Given the description of an element on the screen output the (x, y) to click on. 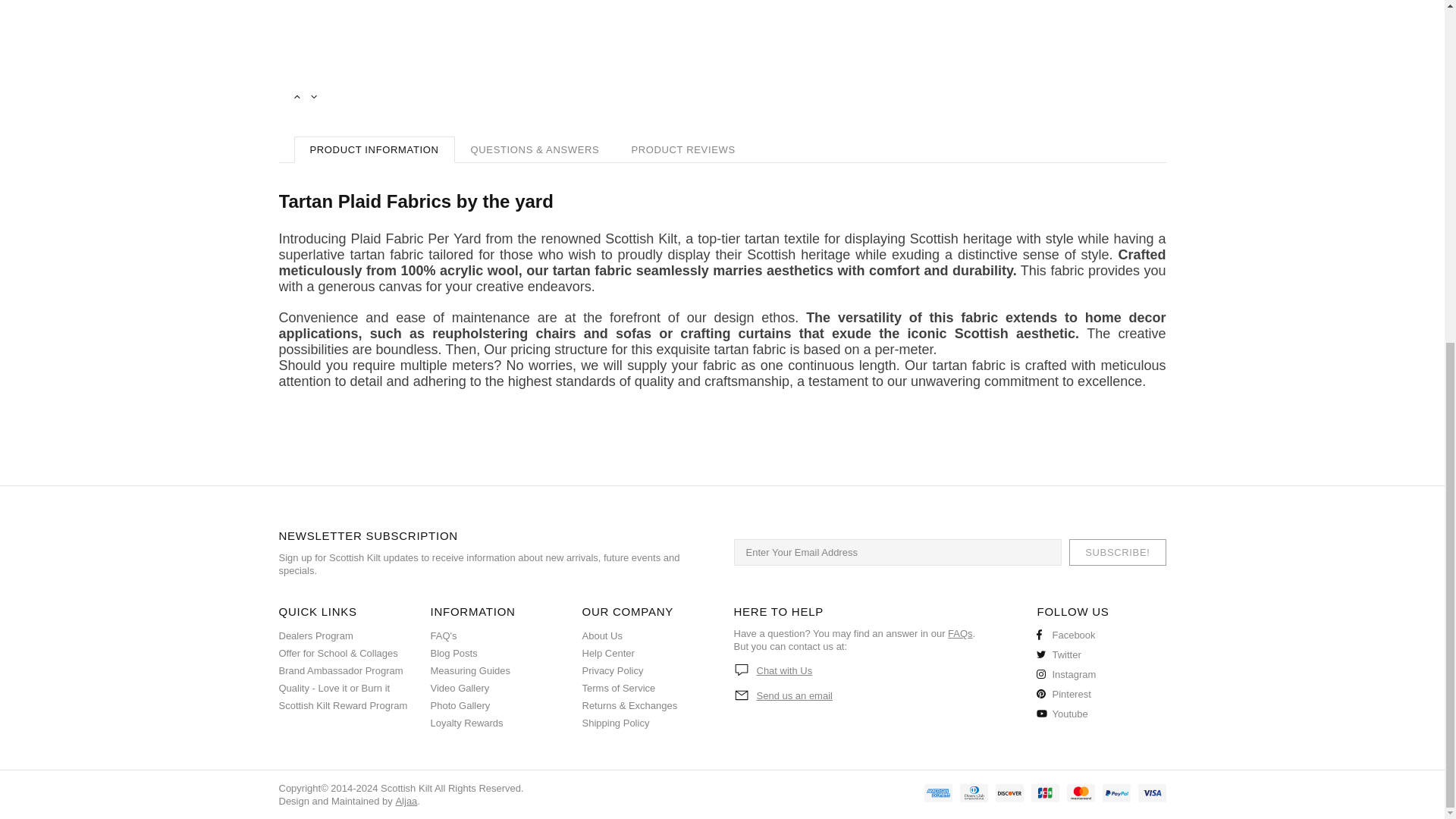
SUBSCRIBE! (1117, 551)
